Given the description of an element on the screen output the (x, y) to click on. 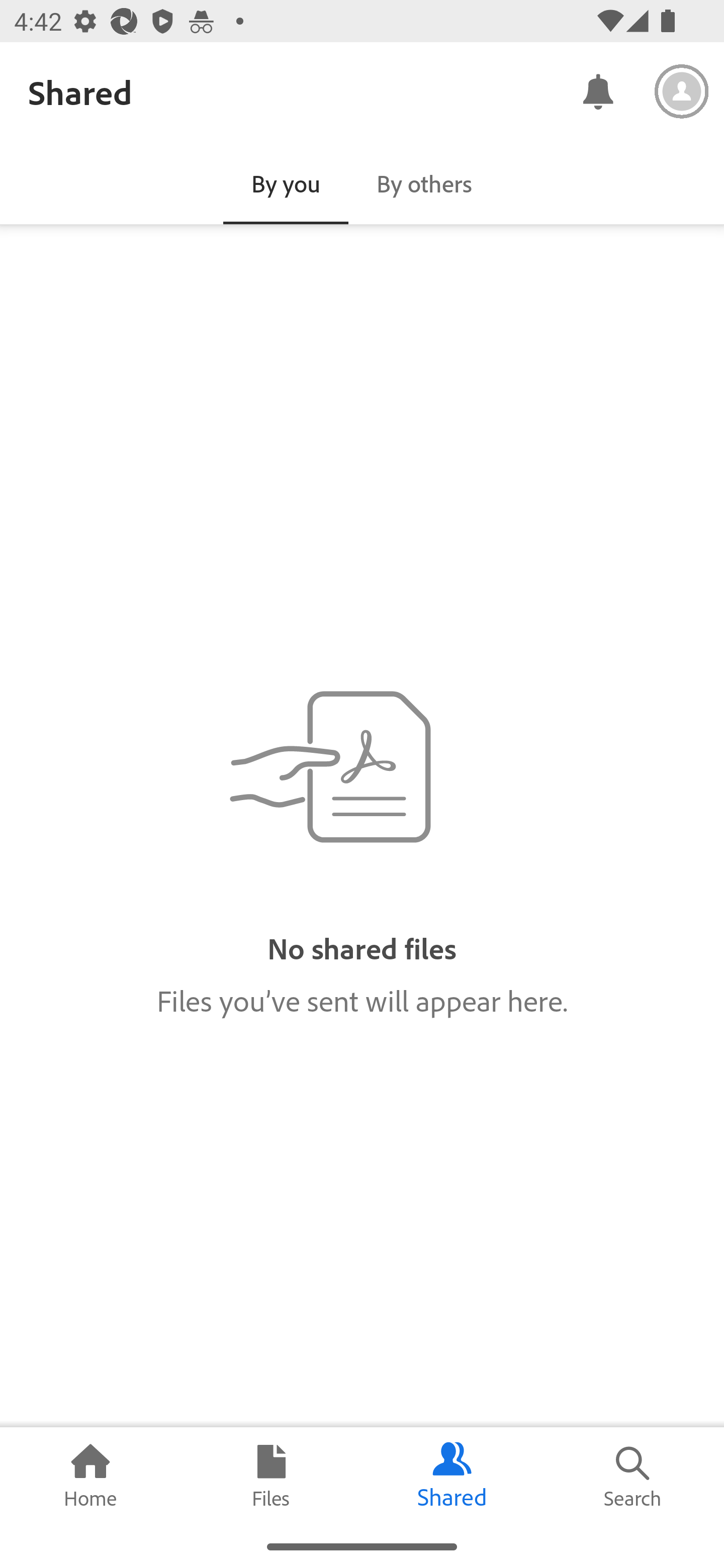
Notifications (597, 90)
Settings (681, 91)
By you (285, 183)
By others (424, 183)
Home (90, 1475)
Files (271, 1475)
Shared (452, 1475)
Search (633, 1475)
